Given the description of an element on the screen output the (x, y) to click on. 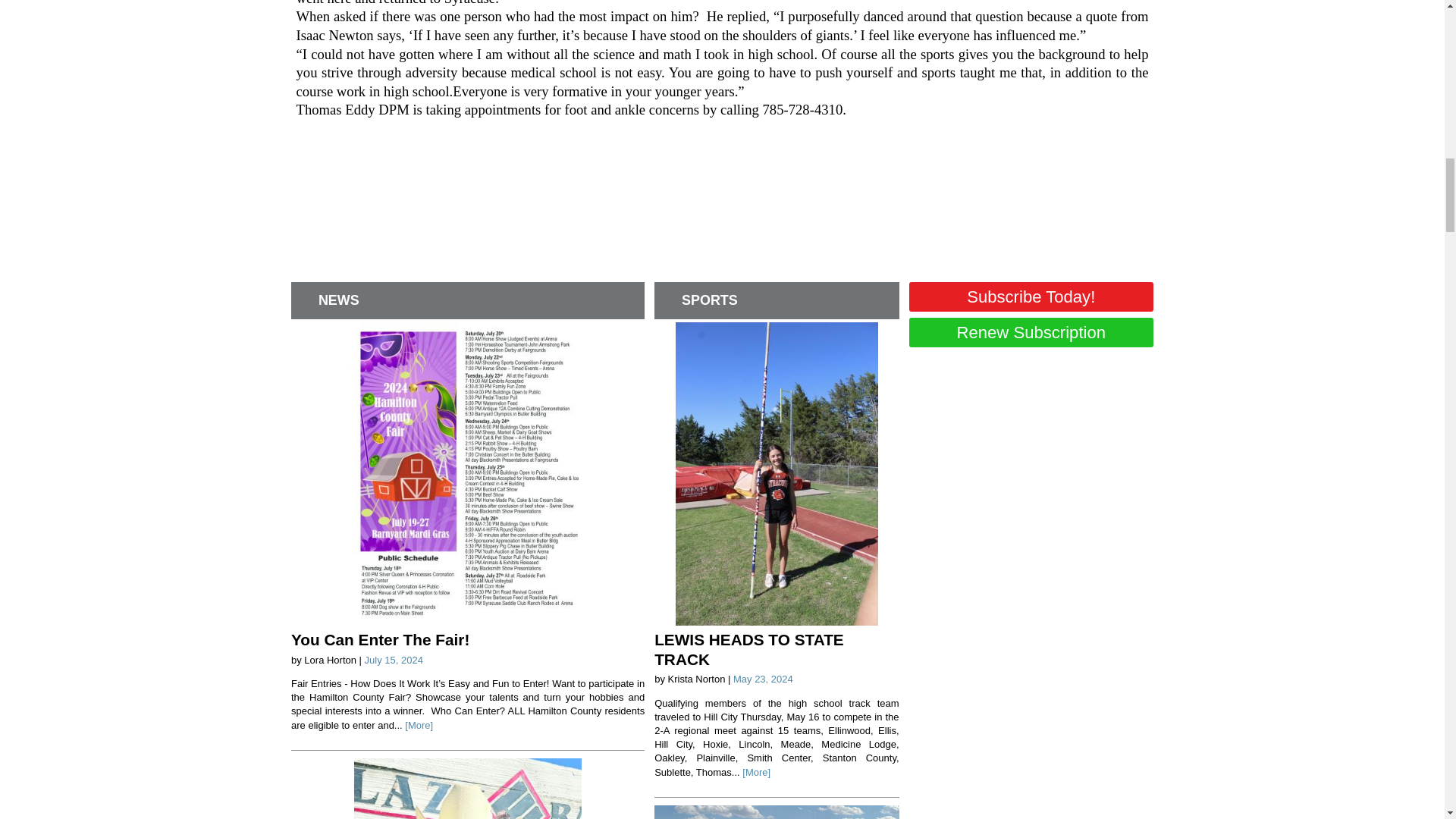
You Can Enter The Fair! (379, 639)
